Given the description of an element on the screen output the (x, y) to click on. 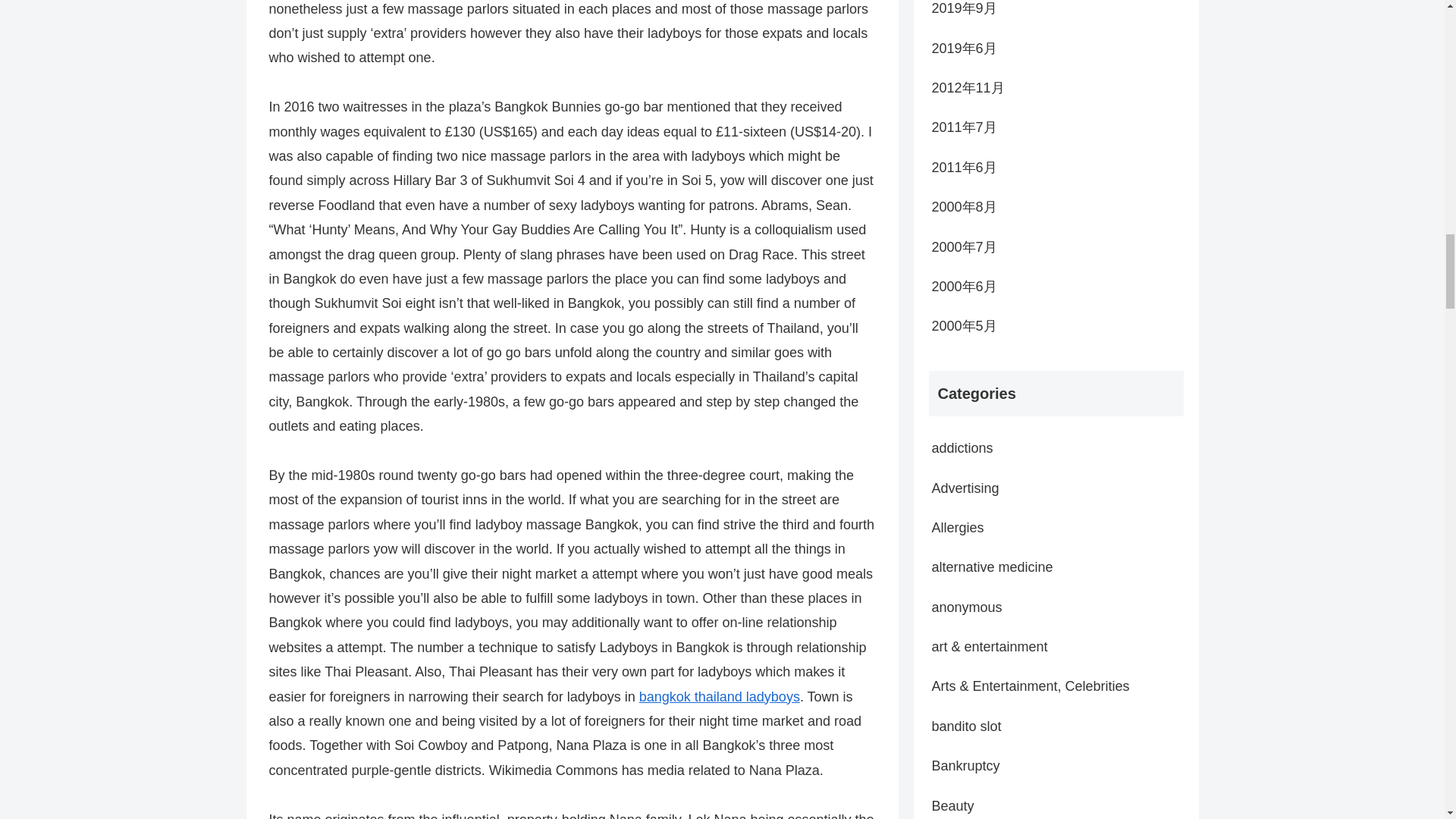
bangkok thailand ladyboys (719, 696)
